Given the description of an element on the screen output the (x, y) to click on. 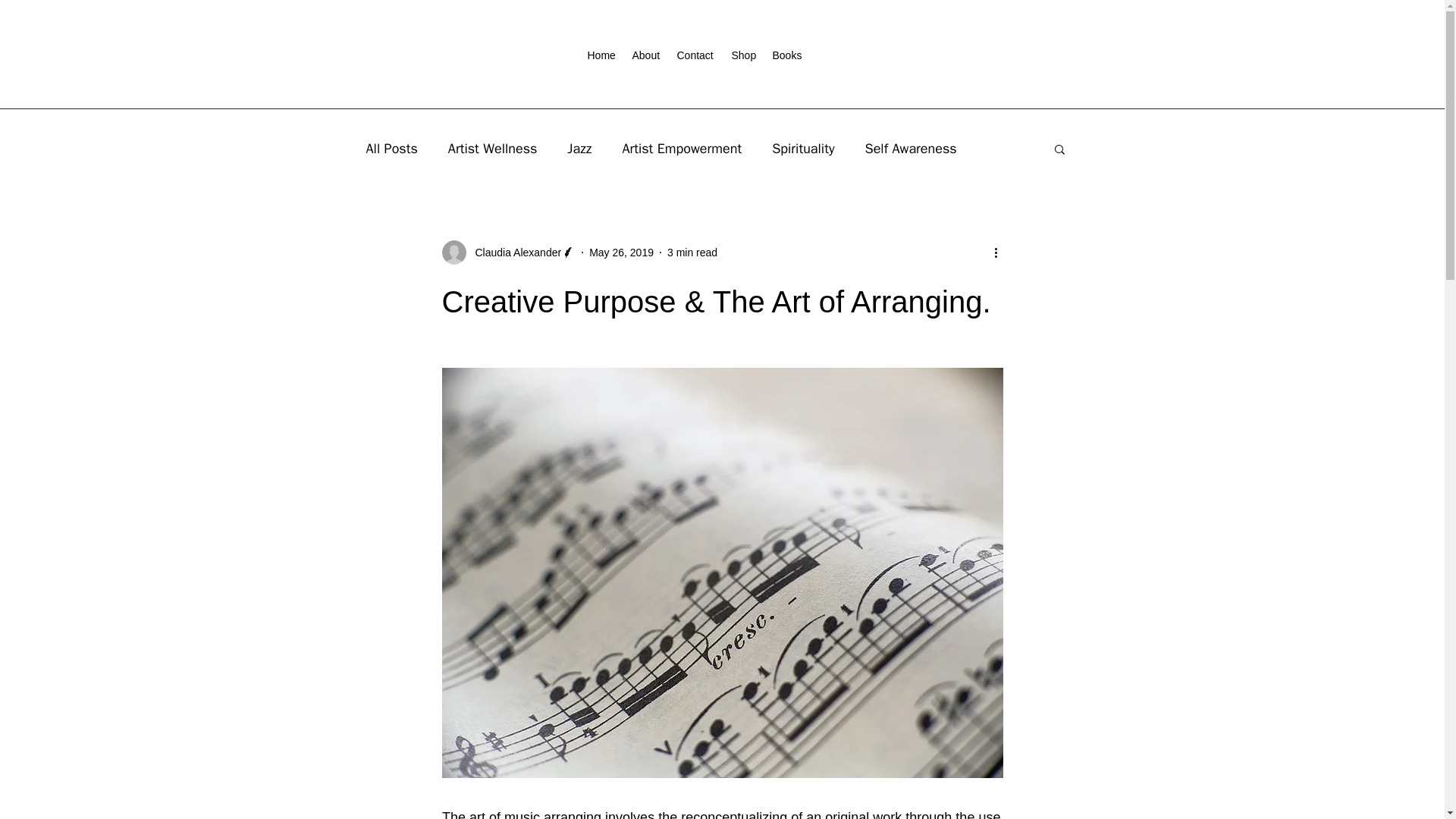
May 26, 2019 (621, 251)
All Posts (390, 148)
Contact (695, 53)
Self Awareness (910, 148)
Shop (743, 53)
Claudia Alexander (508, 252)
About (646, 53)
Artist Wellness (492, 148)
Spirituality (802, 148)
Home (601, 53)
Artist Empowerment (681, 148)
Claudia Alexander (512, 252)
3 min read (691, 251)
Jazz (579, 148)
Books (786, 53)
